Given the description of an element on the screen output the (x, y) to click on. 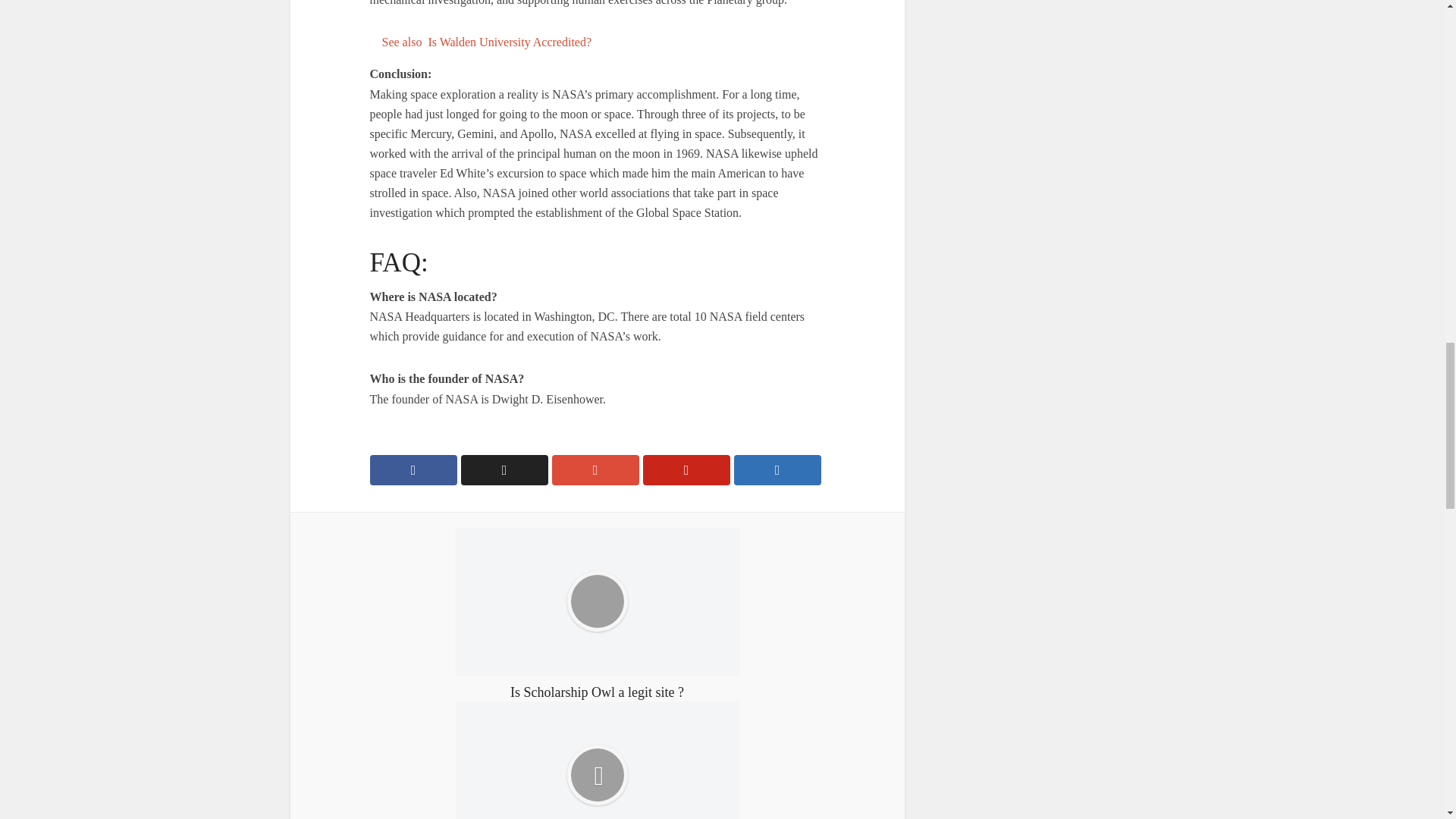
Oscars 2024 Date and Time (596, 760)
See also  Is Walden University Accredited? (597, 42)
Is Scholarship Owl a legit site ? (596, 614)
